Given the description of an element on the screen output the (x, y) to click on. 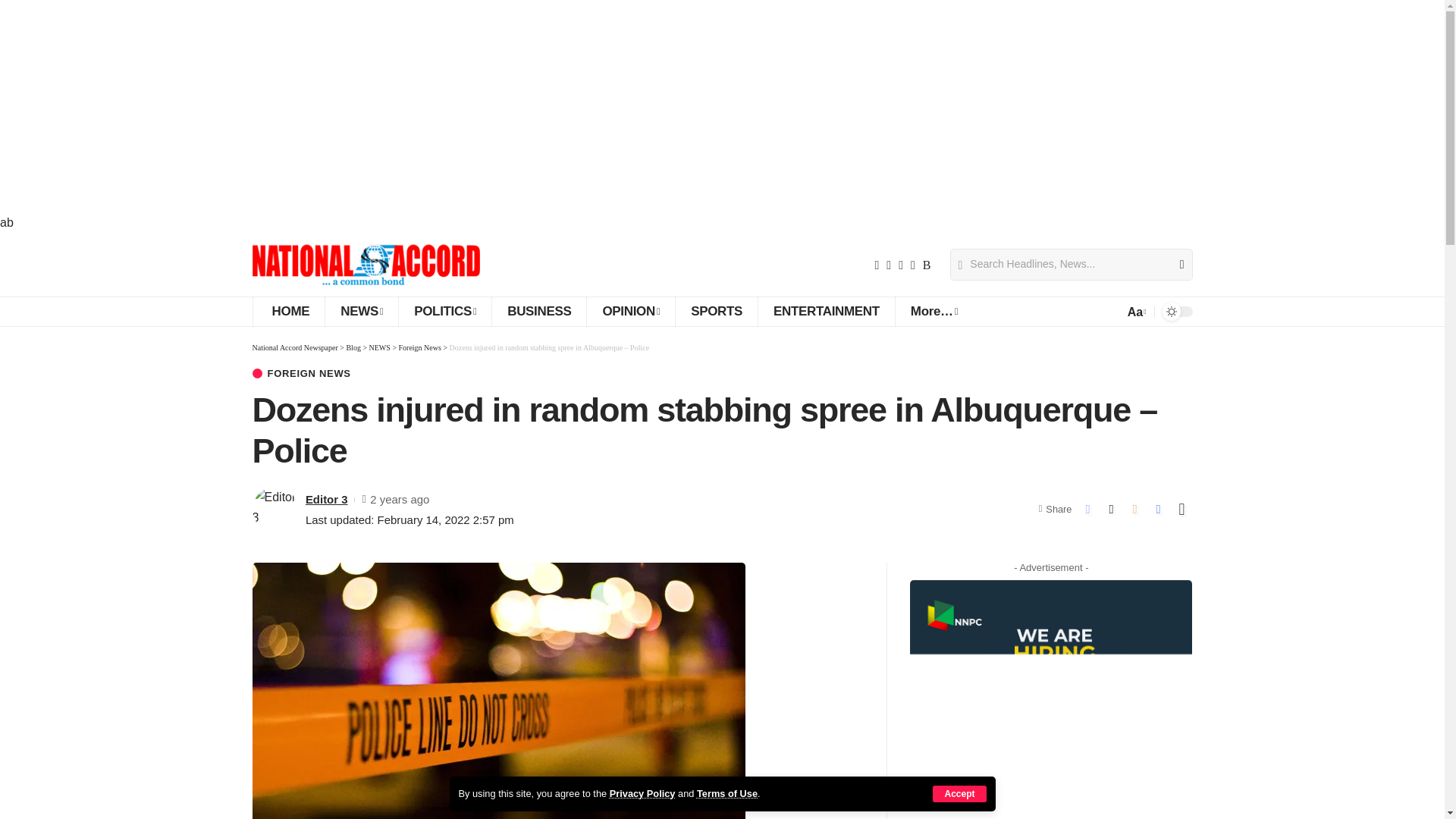
Go to the Foreign News Category archives. (419, 347)
Terms of Use (727, 793)
National Accord Newspaper (365, 264)
Privacy Policy (642, 793)
Go to the NEWS Category archives. (379, 347)
Go to Blog. (352, 347)
POLITICS (444, 311)
NEWS (360, 311)
SPORTS (716, 311)
ENTERTAINMENT (826, 311)
HOME (287, 311)
OPINION (630, 311)
Go to National Accord Newspaper. (294, 347)
BUSINESS (539, 311)
